Given the description of an element on the screen output the (x, y) to click on. 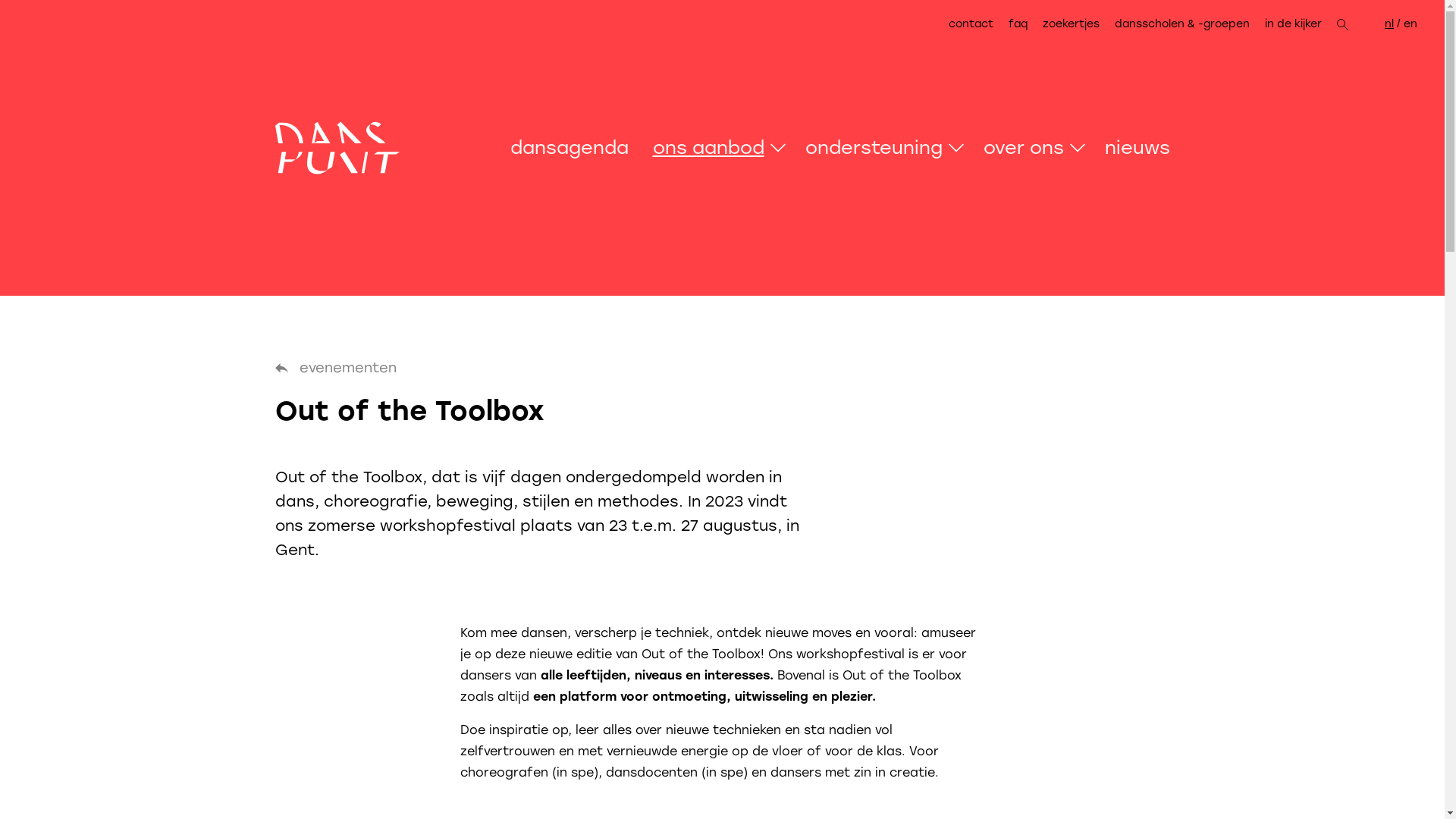
zoekertjes Element type: text (1071, 24)
ons aanbod Element type: text (704, 147)
faq Element type: text (1018, 24)
evenementen Element type: text (334, 368)
ondersteuning Element type: text (870, 147)
contact Element type: text (974, 24)
nl Element type: text (1388, 23)
in de kijker Element type: text (1293, 24)
nieuws Element type: text (1130, 147)
over ons Element type: text (1019, 147)
en Element type: text (1410, 23)
dansscholen & -groepen Element type: text (1182, 24)
dansagenda Element type: text (574, 147)
